Given the description of an element on the screen output the (x, y) to click on. 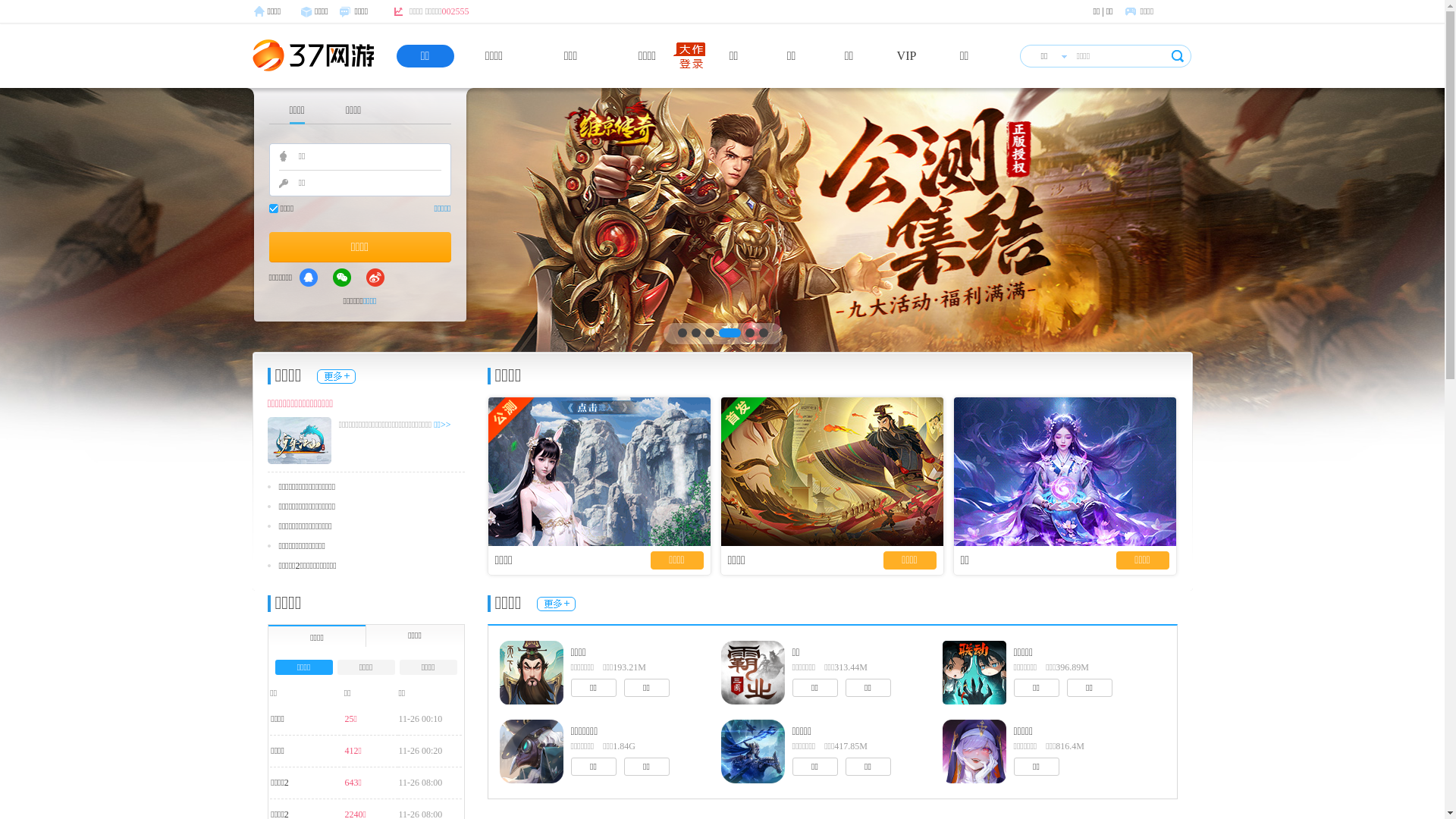
QQ Element type: hover (308, 277)
VIP Element type: text (906, 55)
